Given the description of an element on the screen output the (x, y) to click on. 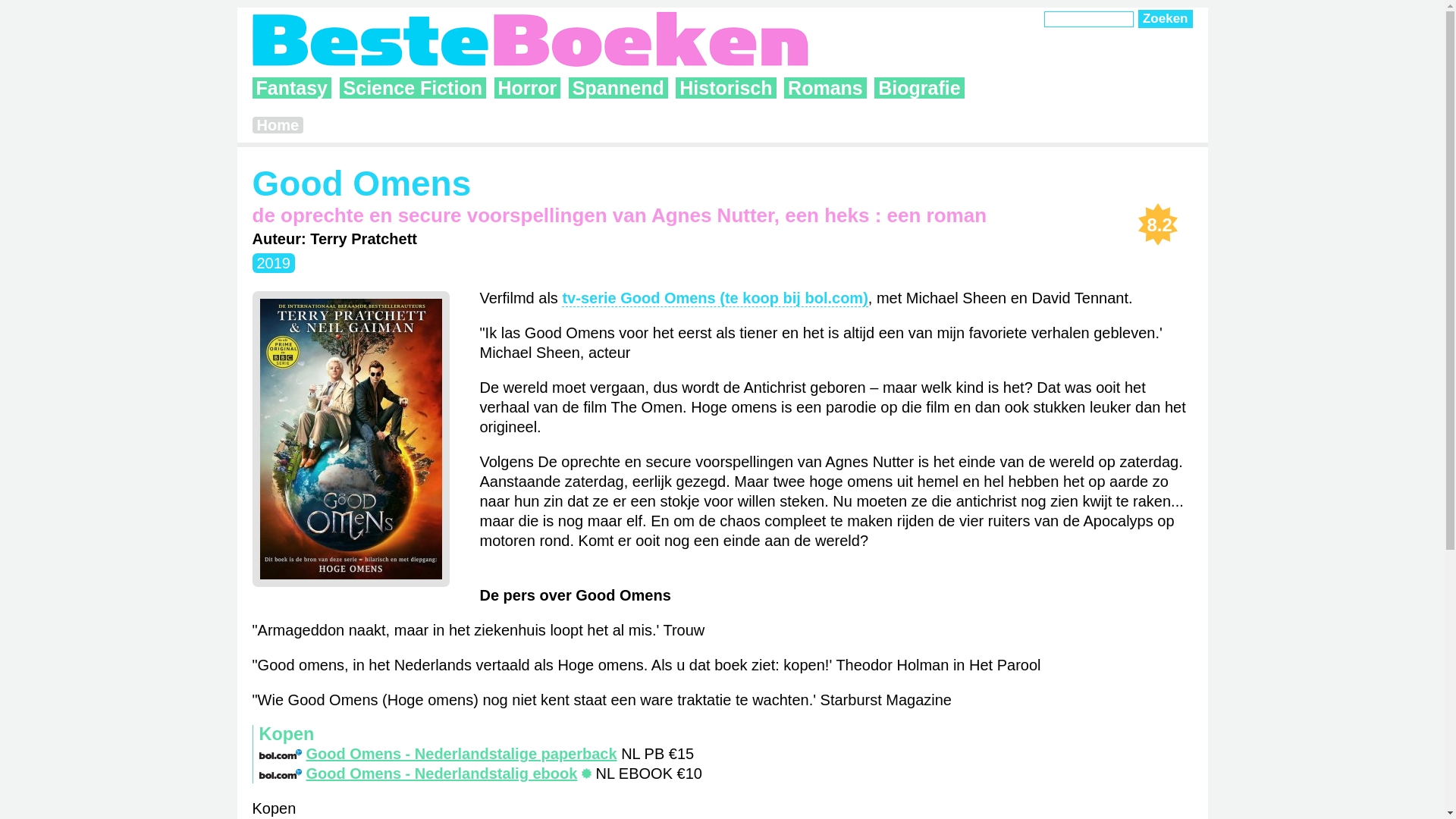
Science Fiction Element type: text (412, 87)
Good Omens - Nederlandstalige paperback Element type: text (438, 753)
Geef de woorden op waarnaar u wilt zoeken. Element type: hover (1088, 19)
Romans Element type: text (825, 87)
Historisch Element type: text (725, 87)
Horror Element type: text (527, 87)
Spannend Element type: text (618, 87)
Fantasy Element type: text (290, 87)
Home Element type: text (277, 124)
Good Omens - Nederlandstalig ebook Element type: text (418, 773)
Zoeken Element type: text (1165, 18)
tv-serie Good Omens (te koop bij bol.com) Element type: text (714, 298)
Biografie Element type: text (918, 87)
